Given the description of an element on the screen output the (x, y) to click on. 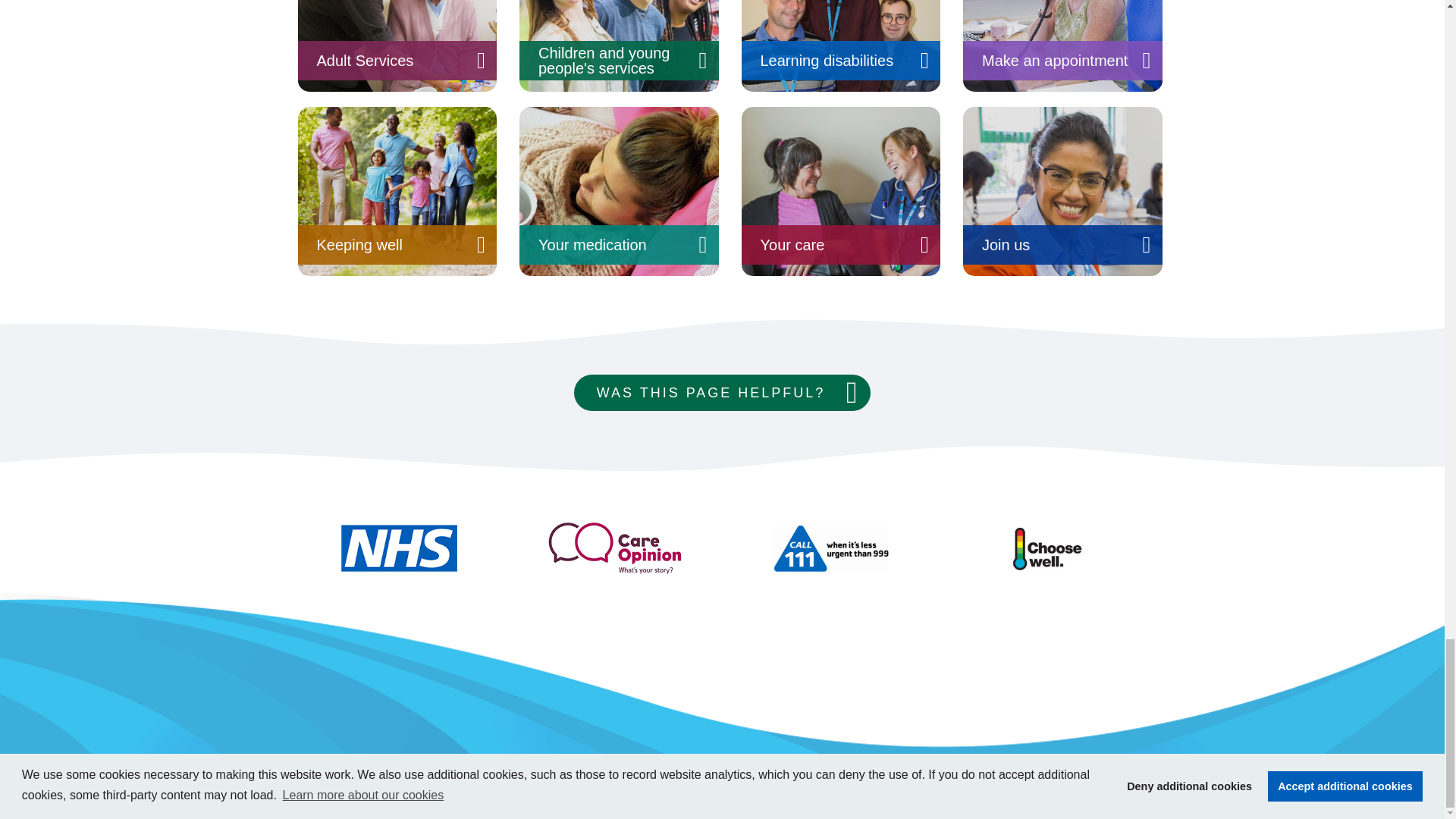
National Health Service (398, 548)
Website Feedback (721, 392)
Care Opinion (613, 548)
NHS 111 (830, 548)
